Given the description of an element on the screen output the (x, y) to click on. 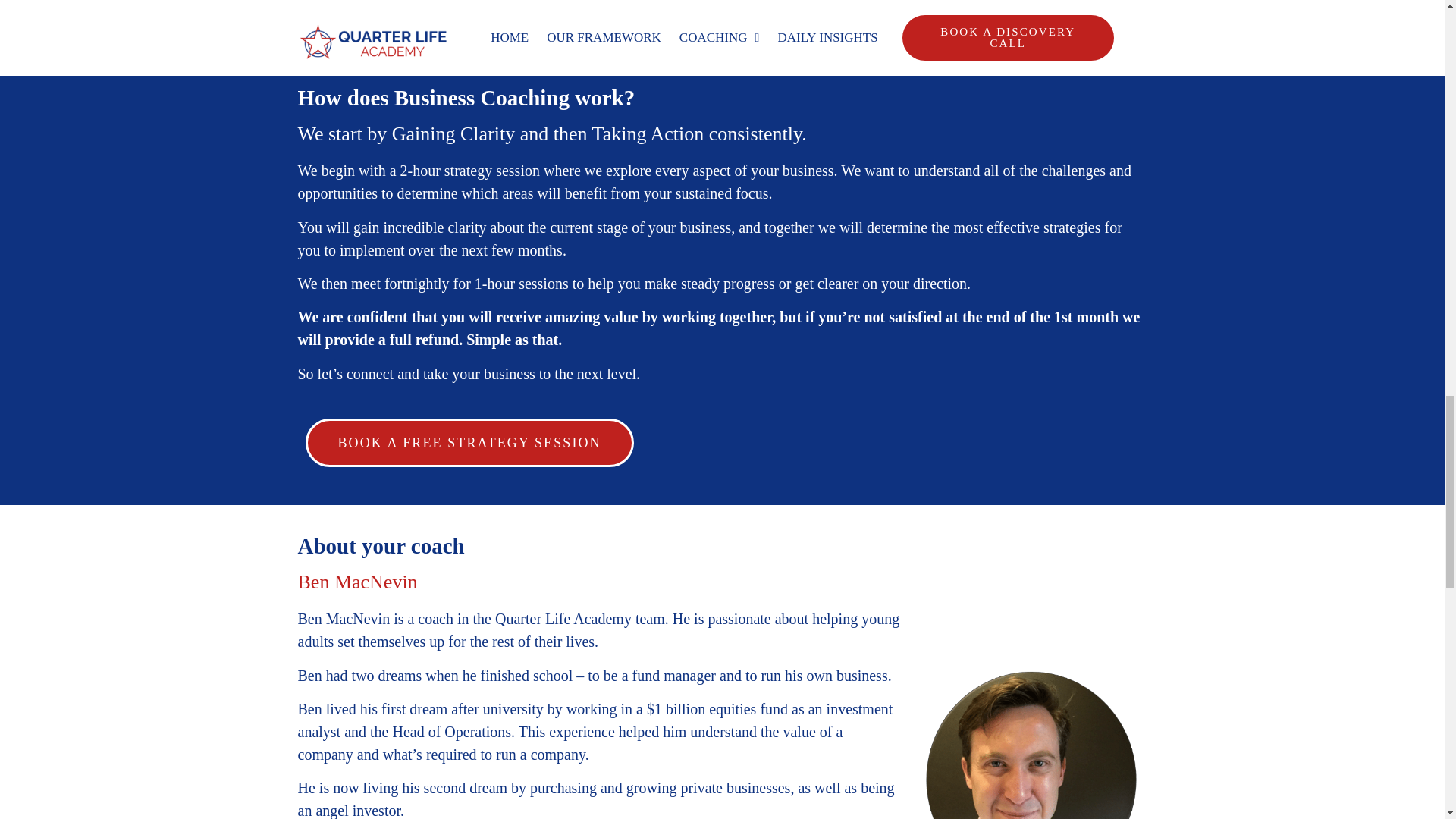
BOOK A FREE STRATEGY SESSION (468, 442)
BOOK A DISCOVERY CALL (959, 20)
